Given the description of an element on the screen output the (x, y) to click on. 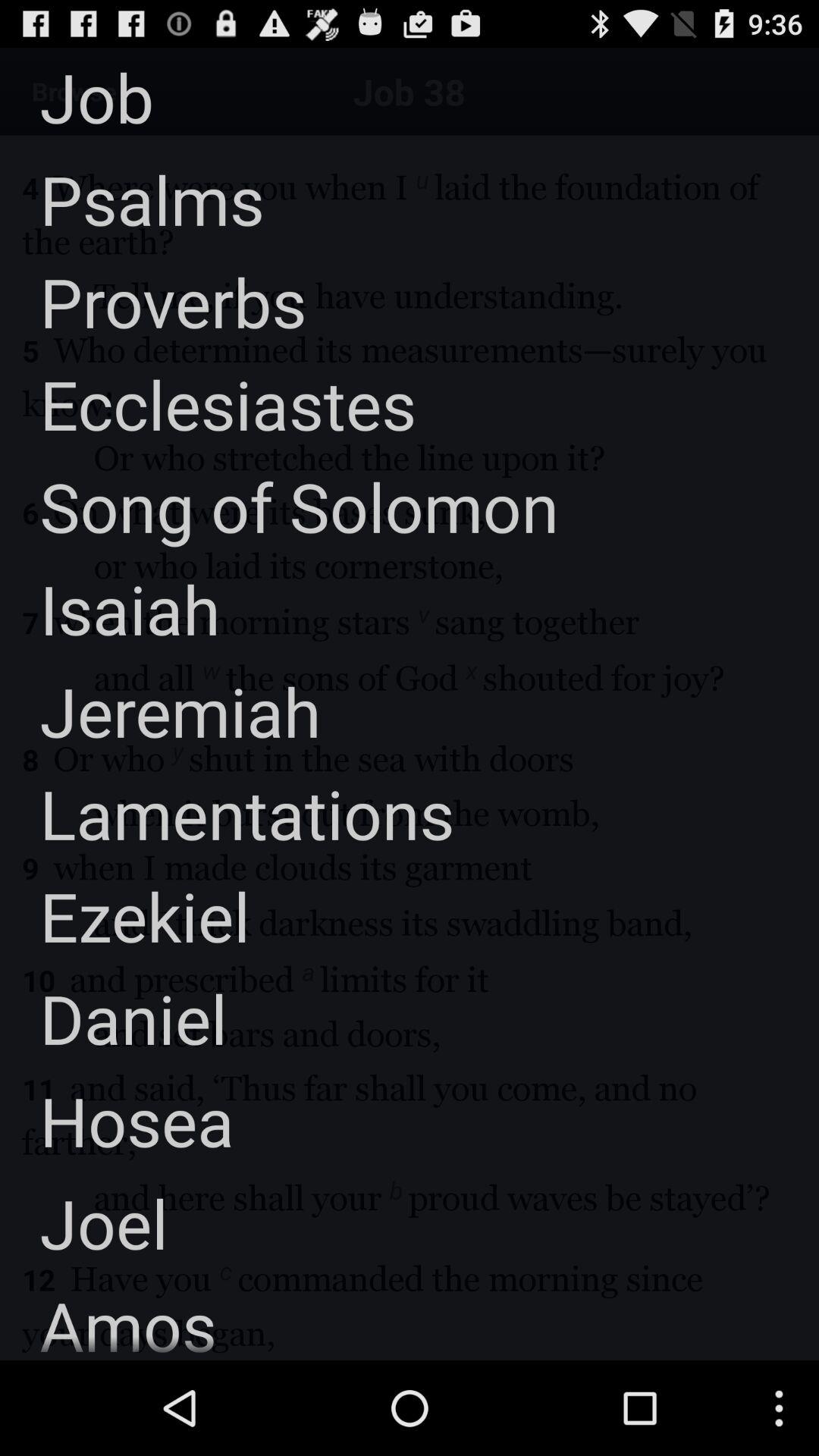
swipe until the job app (77, 96)
